Given the description of an element on the screen output the (x, y) to click on. 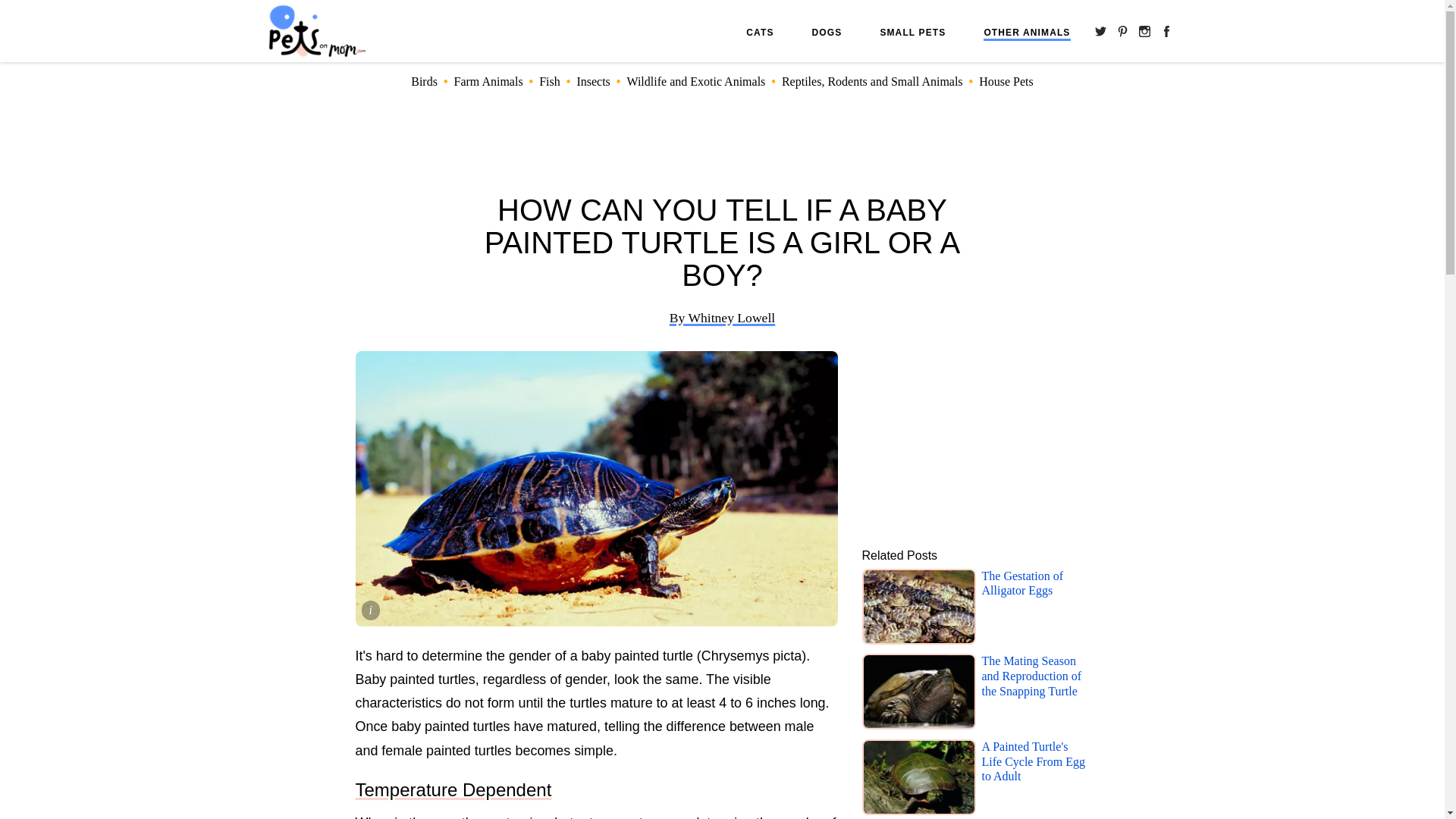
Reptiles, Rodents and Small Animals (871, 81)
The Gestation of Alligator Eggs (1035, 608)
Birds (424, 81)
OTHER ANIMALS (1027, 33)
Farm Animals (487, 81)
DOGS (827, 32)
House Pets (1005, 81)
CATS (759, 32)
Wildlife and Exotic Animals (695, 81)
The Mating Season and Reproduction of the Snapping Turtle (1035, 693)
